Given the description of an element on the screen output the (x, y) to click on. 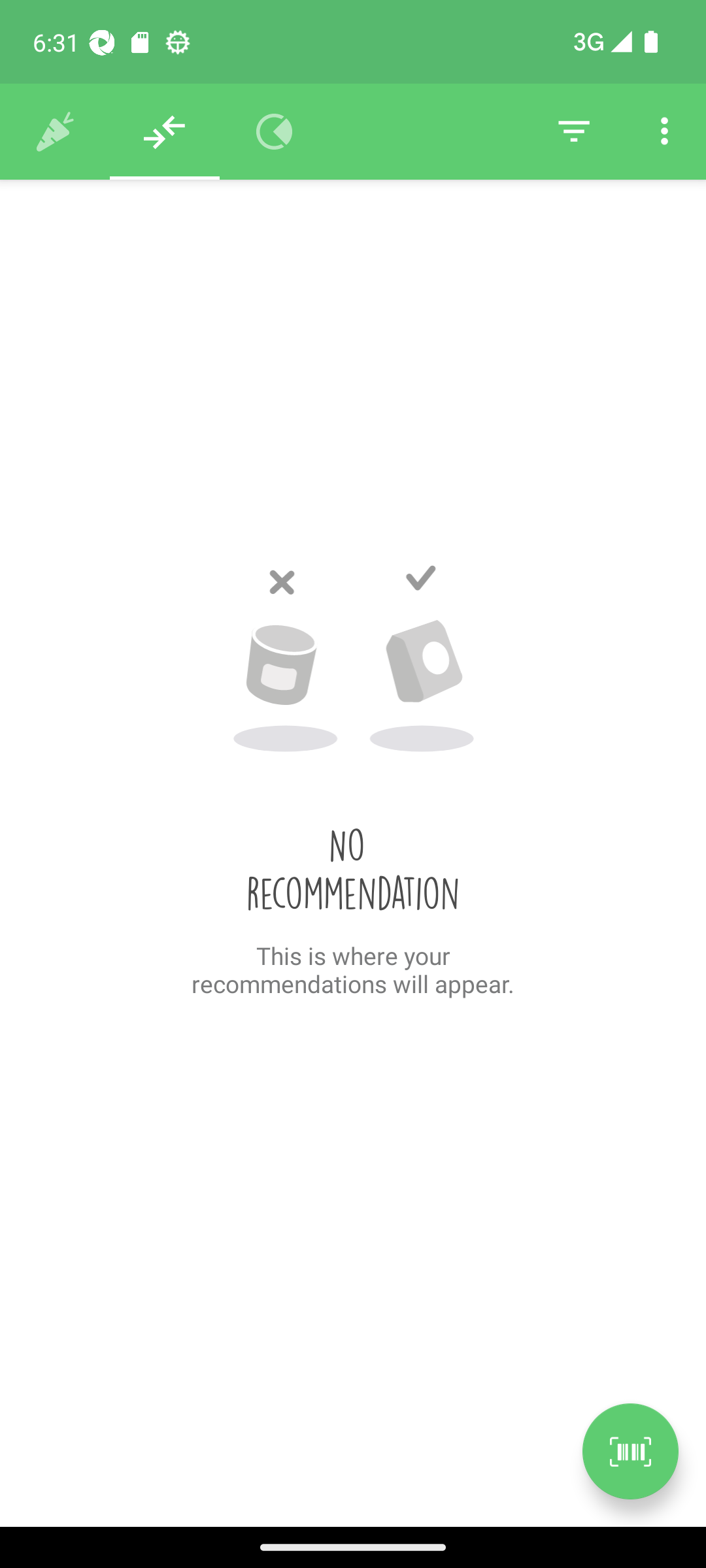
History (55, 131)
Overview (274, 131)
Filter (573, 131)
Settings (664, 131)
Scan a product (630, 1451)
